Given the description of an element on the screen output the (x, y) to click on. 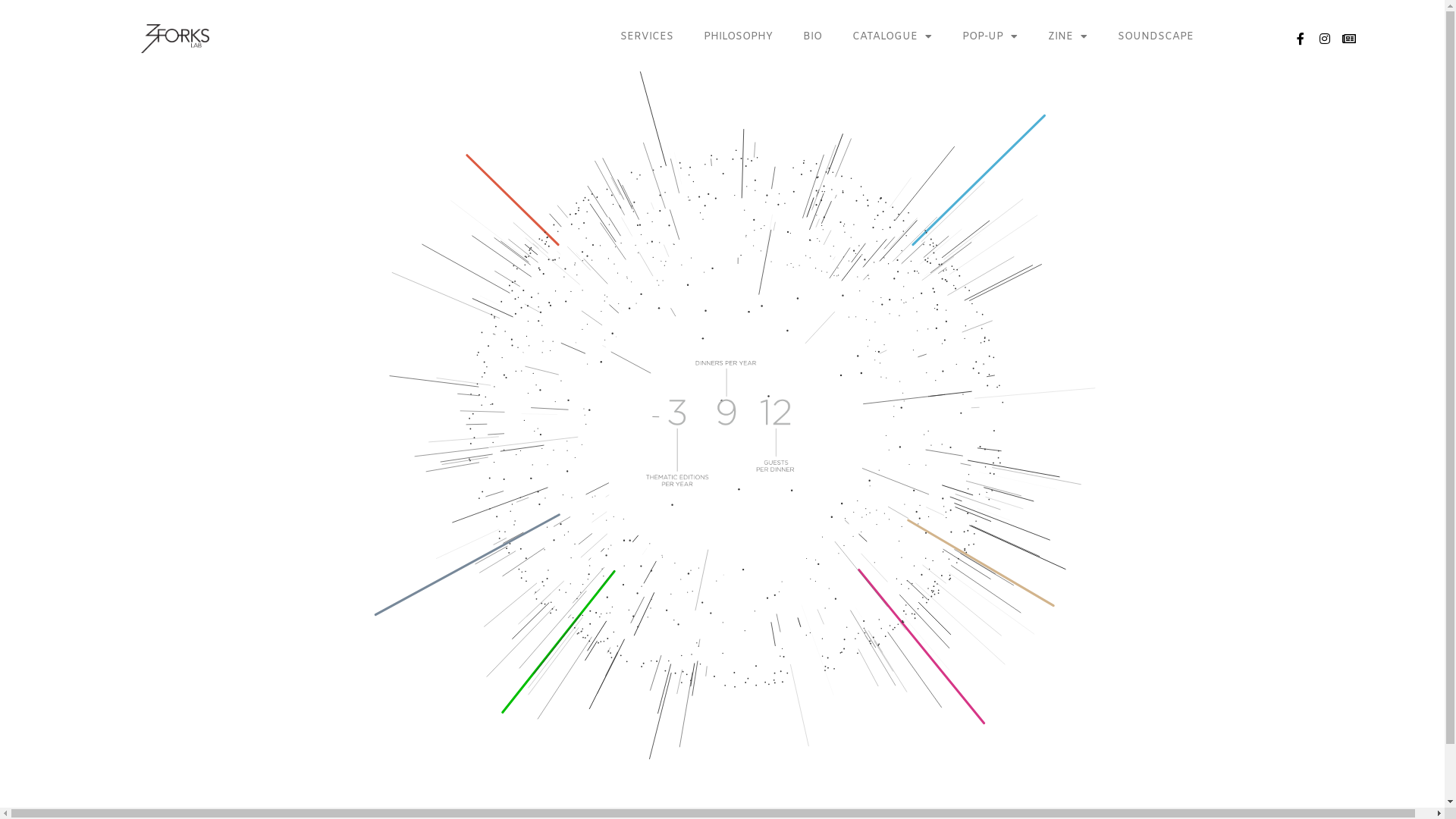
POP-UP Element type: text (989, 36)
SOUNDSCAPE Element type: text (1155, 36)
CATALOGUE Element type: text (892, 36)
PHILOSOPHY Element type: text (737, 36)
BIO Element type: text (812, 36)
SERVICES Element type: text (646, 36)
ZINE Element type: text (1067, 36)
